Given the description of an element on the screen output the (x, y) to click on. 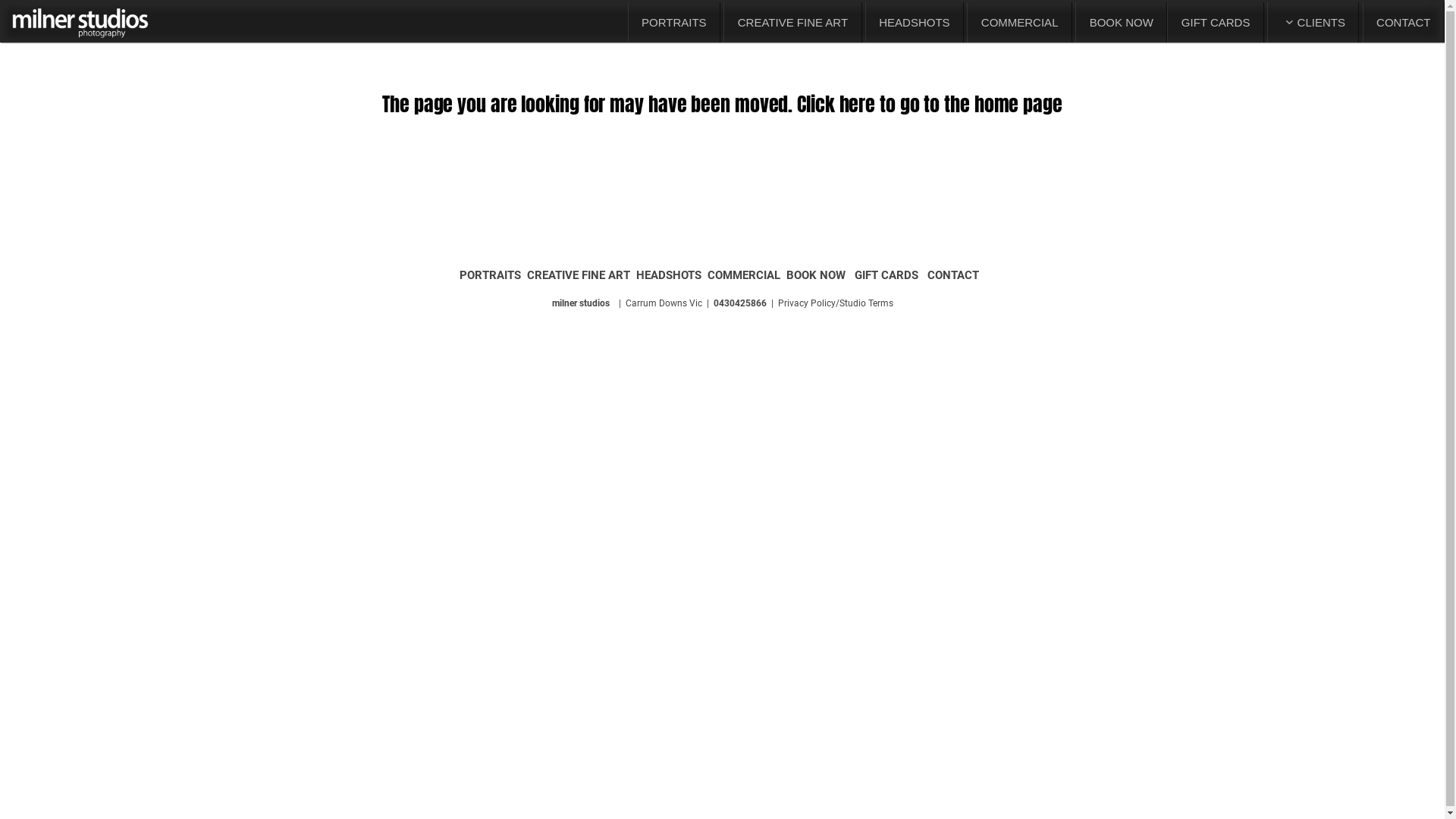
PORTRAITS Element type: text (674, 22)
COMMERCIAL Element type: text (743, 275)
milner studios Element type: text (580, 303)
CONTACT Element type: text (1403, 22)
CREATIVE FINE ART Element type: text (792, 22)
GIFT CARDS Element type: text (886, 275)
COMMERCIAL Element type: text (1019, 22)
Privacy Policy/Studio Terms Element type: text (835, 302)
CONTACT Element type: text (953, 275)
PORTRAITS Element type: text (489, 275)
HEADSHOTS Element type: text (668, 275)
HEADSHOTS Element type: text (914, 22)
BOOK NOW Element type: text (815, 275)
CREATIVE FINE ART Element type: text (578, 275)
GIFT CARDS Element type: text (1215, 22)
0430425866 Element type: text (738, 303)
BOOK NOW Element type: text (1121, 22)
Click here to go to the home page Element type: text (929, 103)
CLIENTS Element type: text (1312, 22)
